Given the description of an element on the screen output the (x, y) to click on. 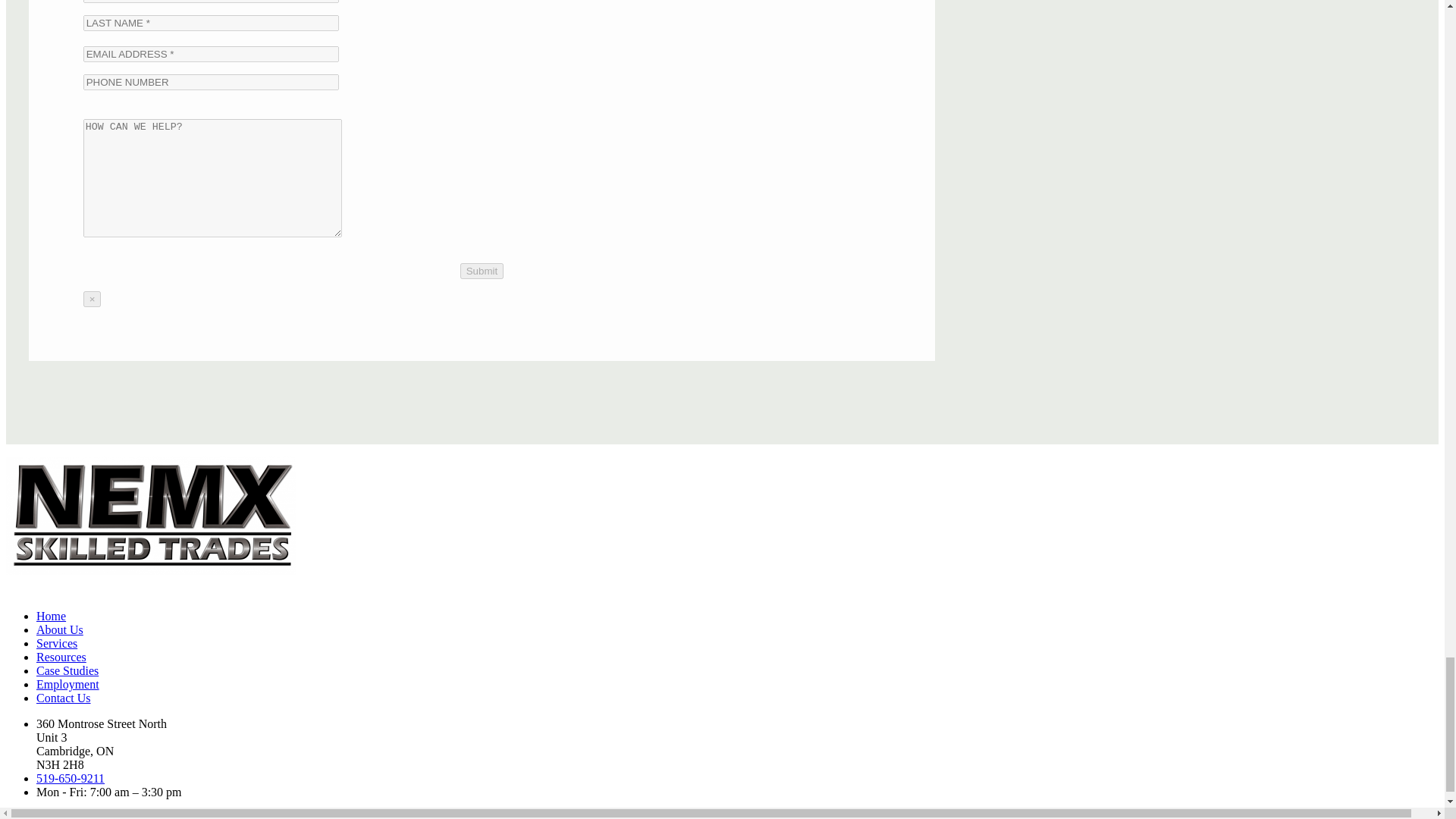
Submit (481, 270)
